Given the description of an element on the screen output the (x, y) to click on. 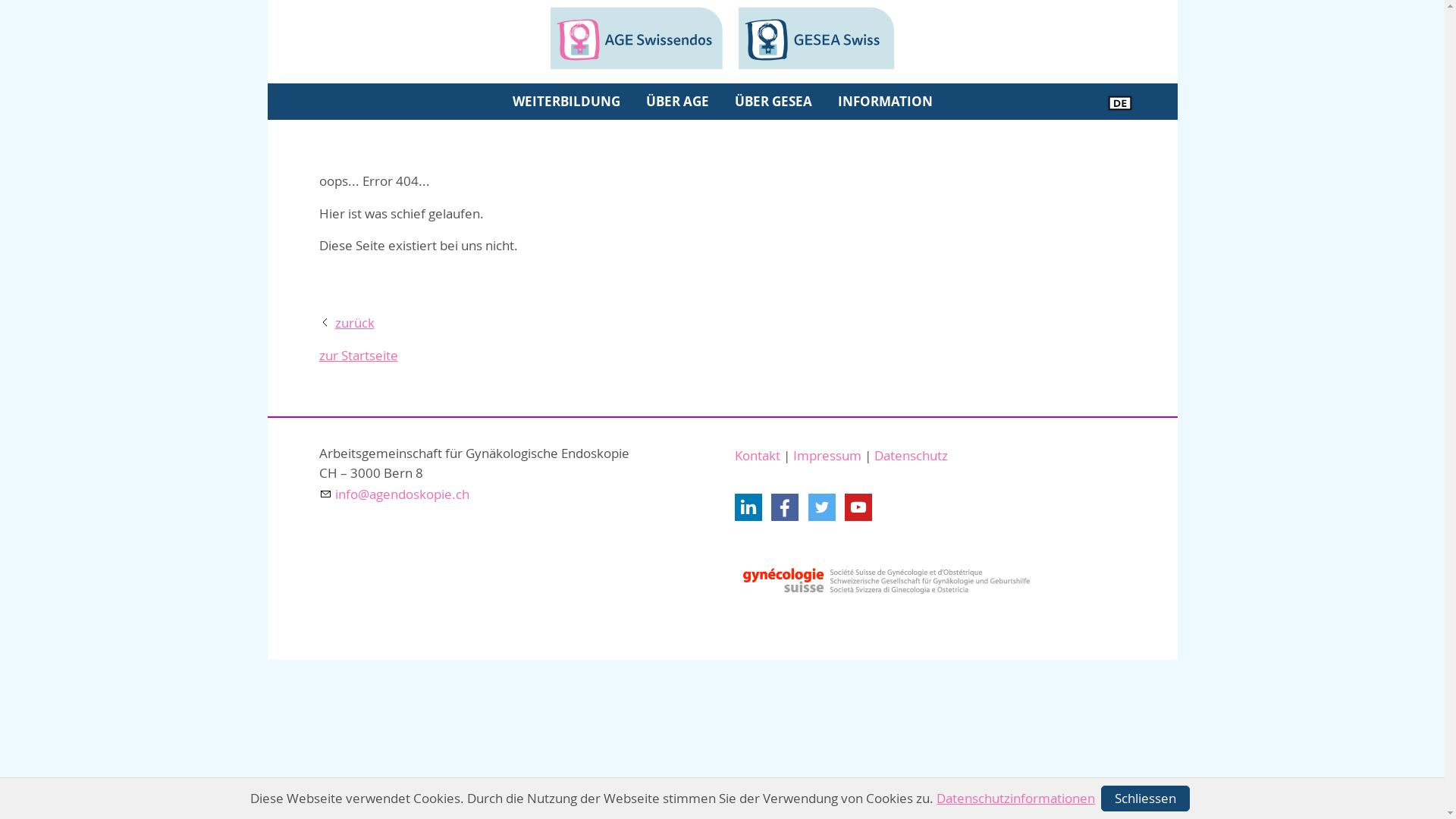
INFORMATION Element type: text (885, 101)
nfgndskpch Element type: text (393, 493)
  Element type: text (821, 506)
  Element type: text (858, 506)
Datenschutz Element type: text (910, 455)
Datenschutzinformationen Element type: text (1015, 797)
fb agendoskopie Element type: hover (784, 506)
Kontakt Element type: text (756, 455)
  Element type: text (747, 506)
Deutsch Element type: hover (1119, 102)
YouTubeChannel agendoskopie Element type: hover (858, 506)
Schliessen Element type: text (1145, 798)
  Element type: text (784, 506)
WEITERBILDUNG Element type: text (565, 101)
linkedin agendoskopie Element type: hover (747, 506)
Impressum Element type: text (827, 455)
zur Startseite Element type: text (357, 355)
twitter agendoskopie Element type: hover (821, 506)
